Given the description of an element on the screen output the (x, y) to click on. 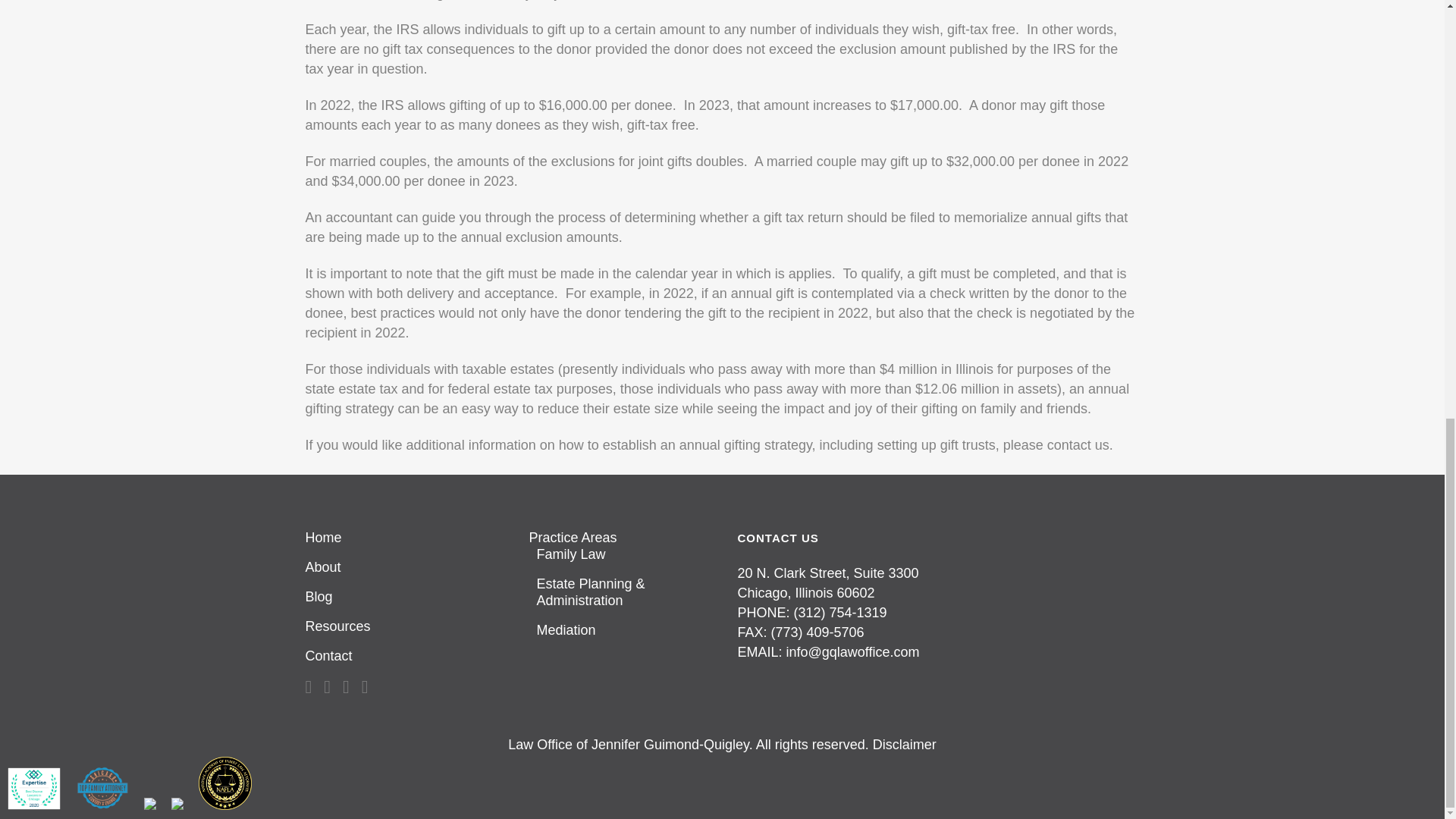
Home (403, 537)
About (403, 566)
Resources (403, 626)
Blog (403, 596)
Contact (403, 655)
